Given the description of an element on the screen output the (x, y) to click on. 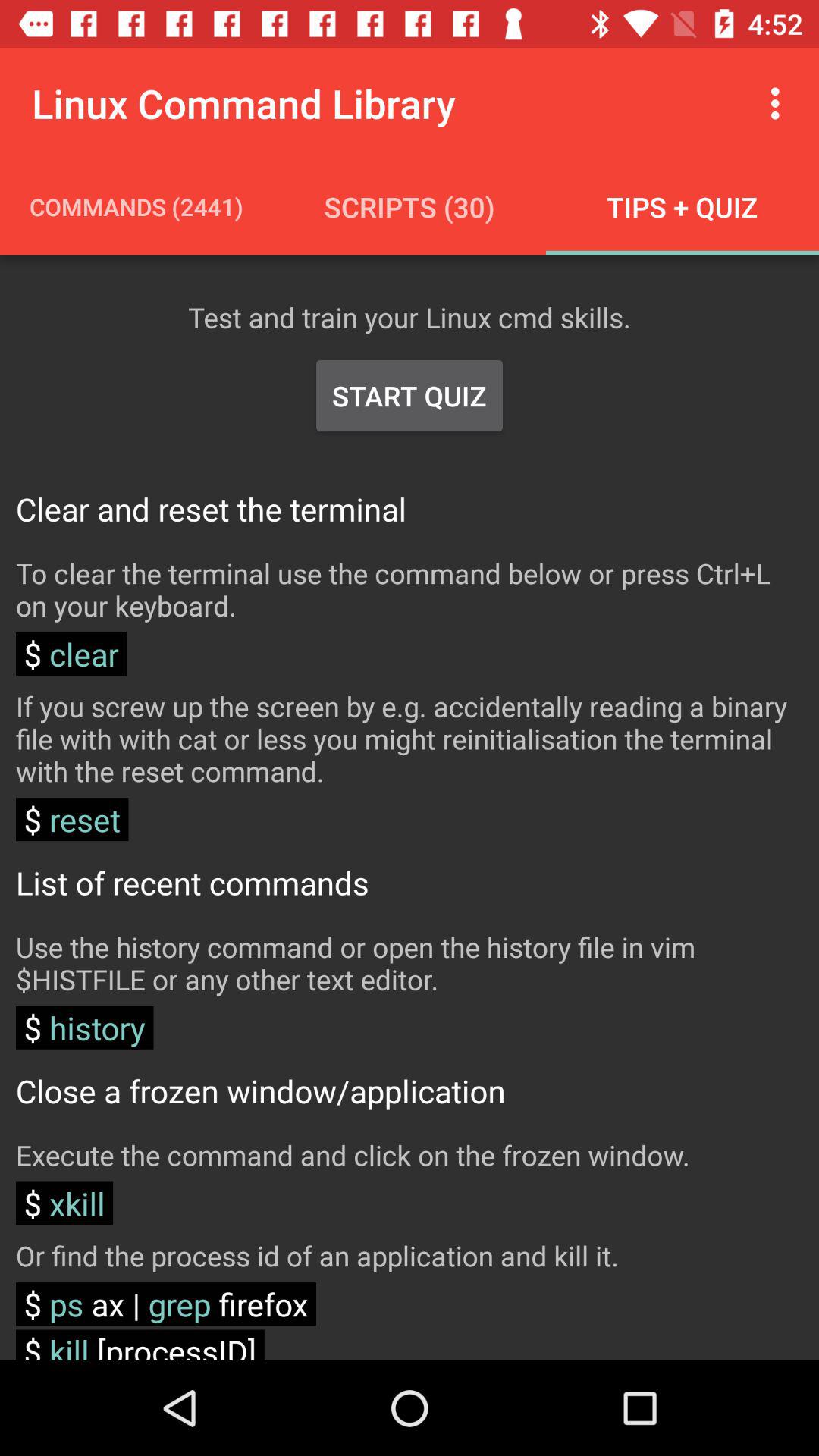
launch the item below or find the icon (165, 1303)
